Given the description of an element on the screen output the (x, y) to click on. 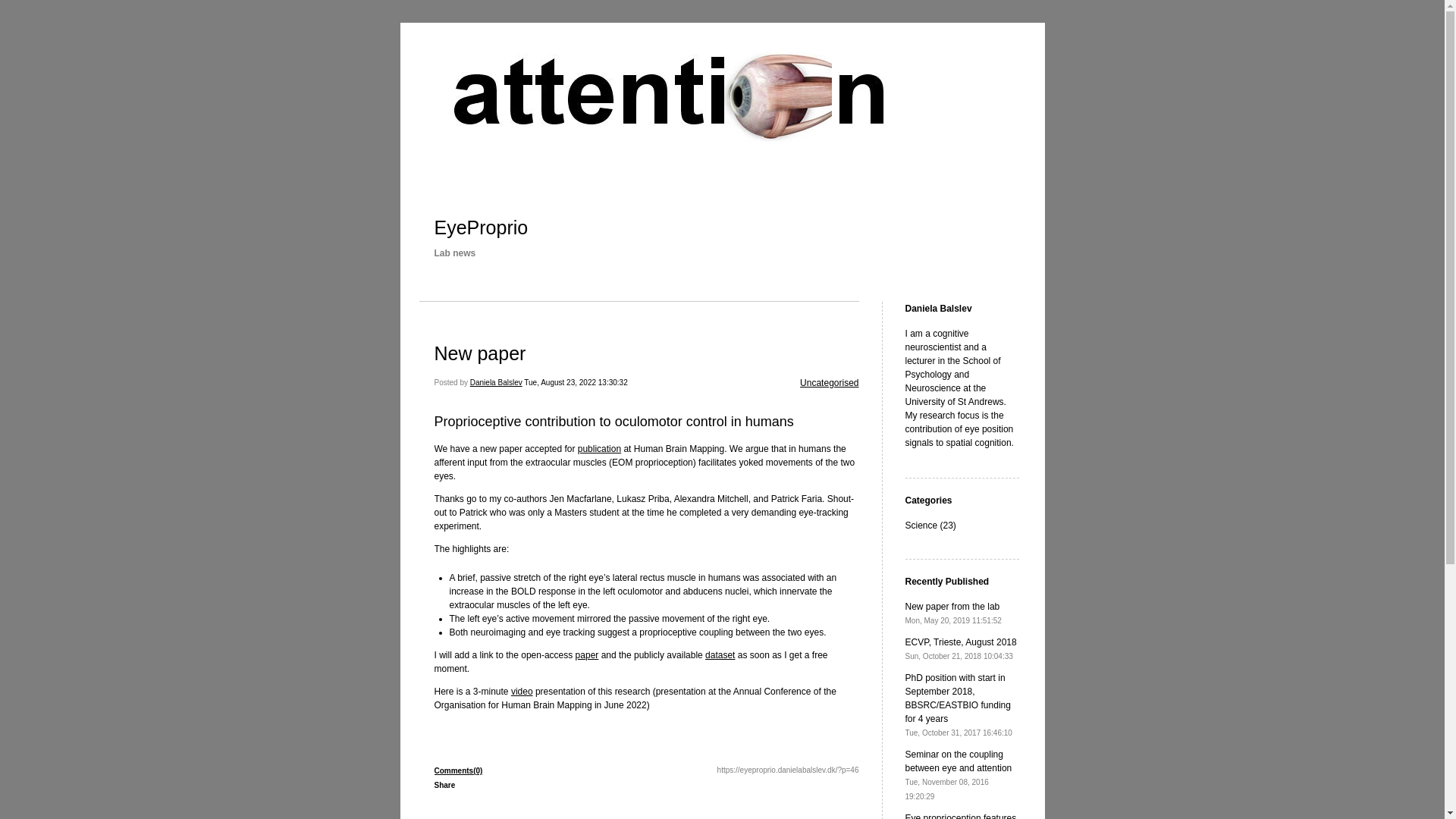
publication (599, 448)
EyeProprio (480, 227)
paper (586, 655)
Tue, August 23, 2022 13:30:32 (575, 382)
Uncategorised (960, 648)
Uncategorised (829, 382)
dataset (829, 382)
Share (719, 655)
